Given the description of an element on the screen output the (x, y) to click on. 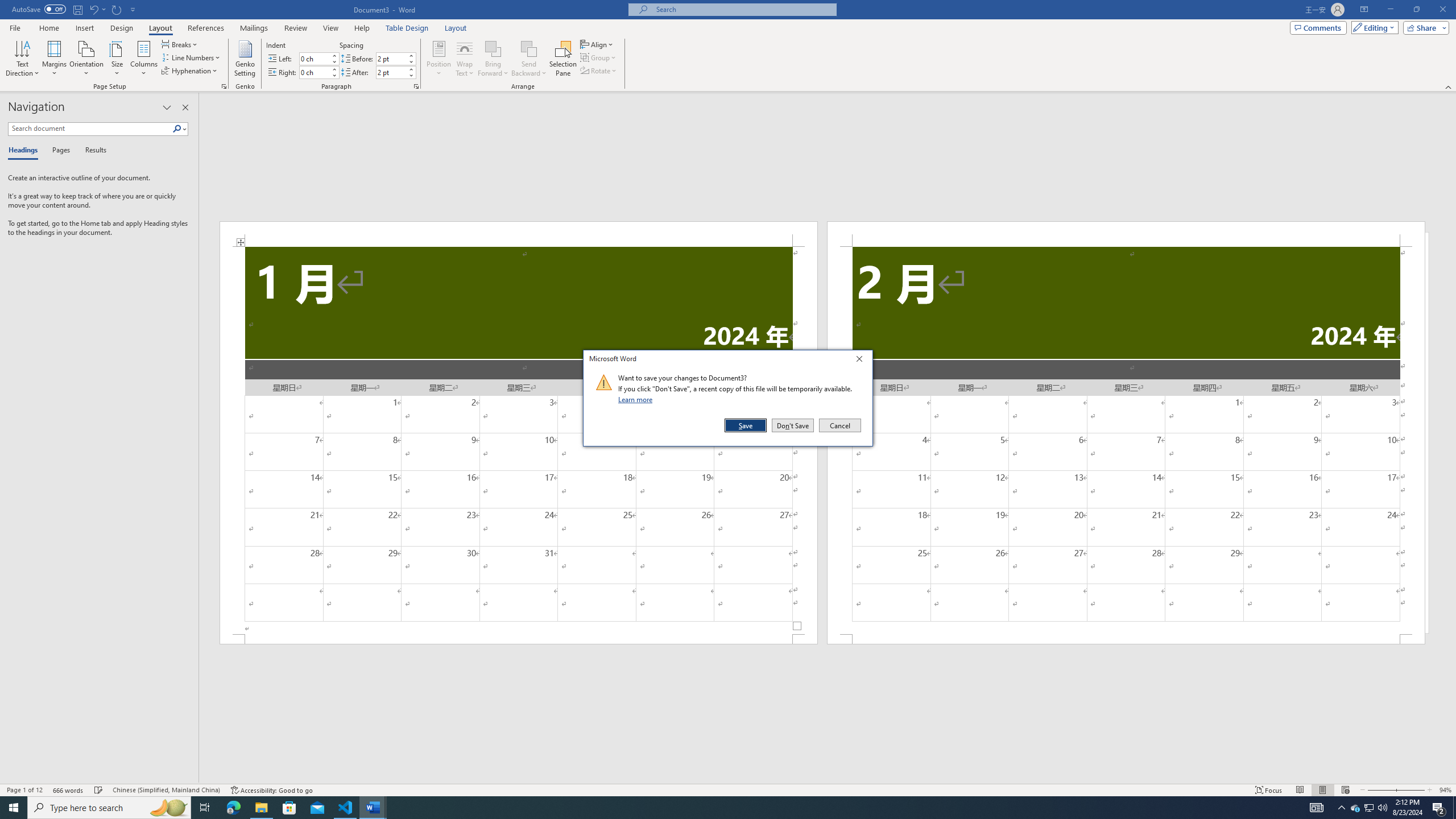
Send Backward (528, 58)
Undo Increase Indent (92, 9)
Bring Forward (492, 48)
Word Count 666 words (68, 790)
